Given the description of an element on the screen output the (x, y) to click on. 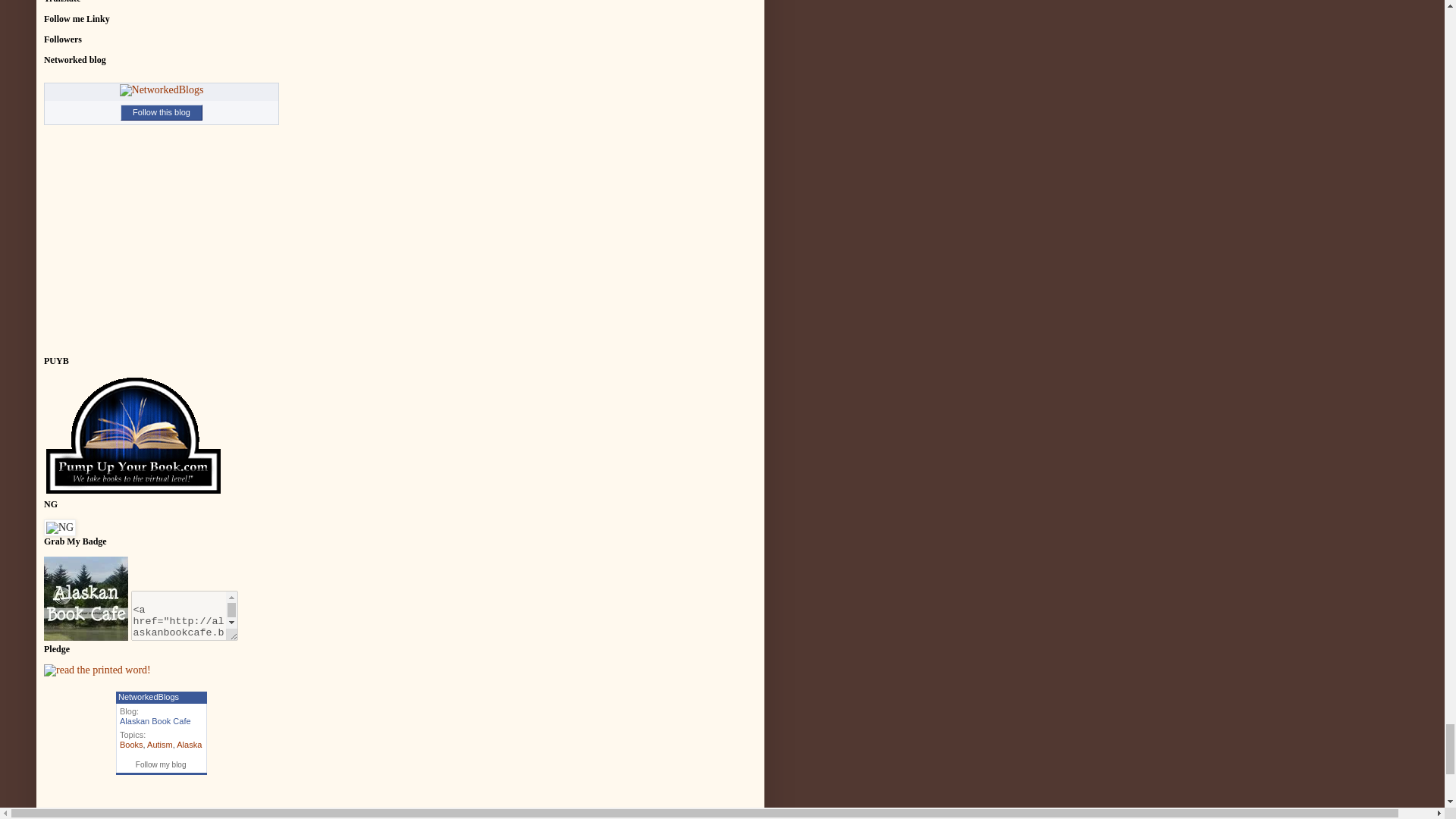
NetworkedBlogs (161, 90)
NetworkedBlogs (161, 89)
